Given the description of an element on the screen output the (x, y) to click on. 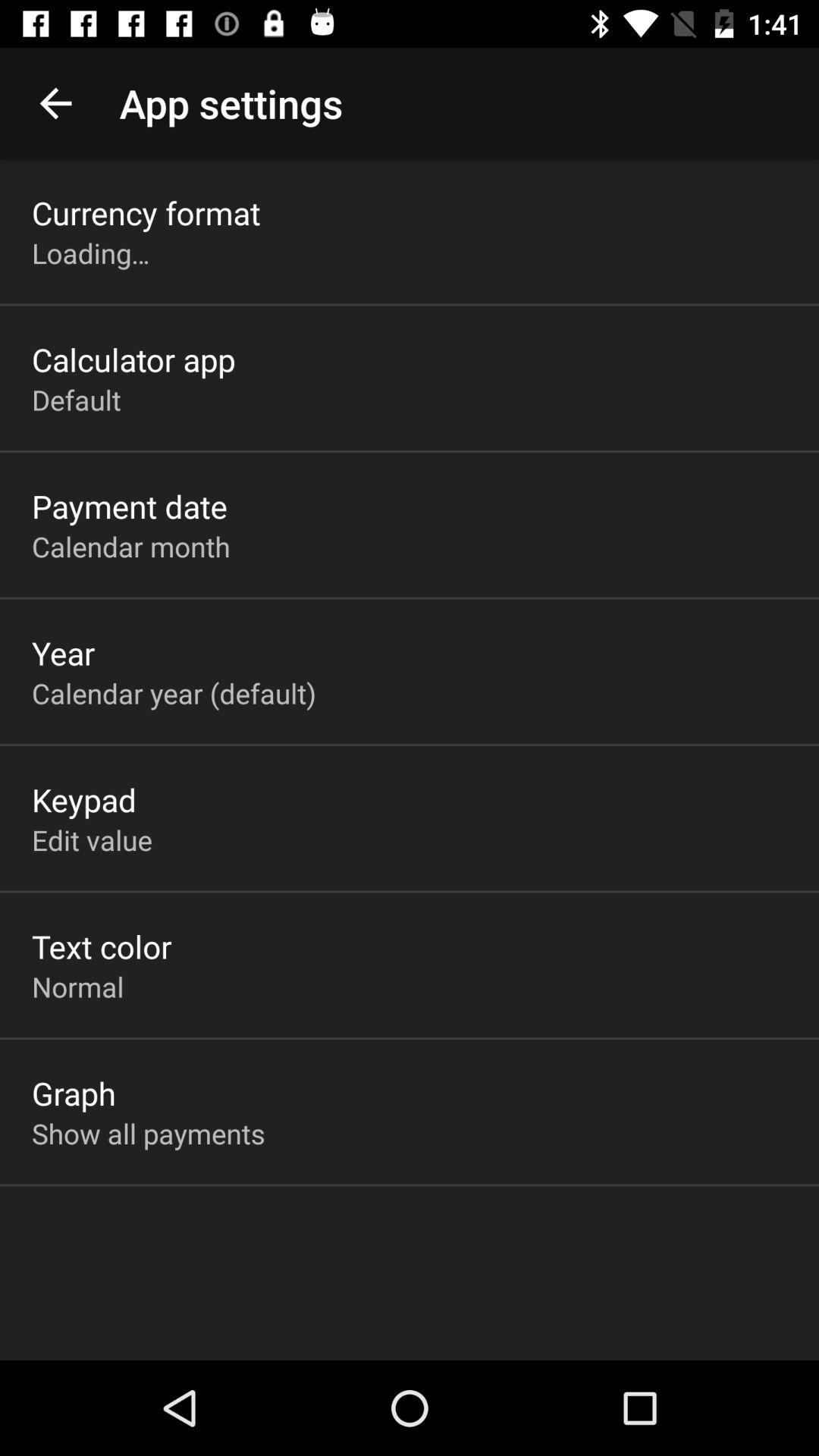
click the app next to app settings (55, 103)
